Given the description of an element on the screen output the (x, y) to click on. 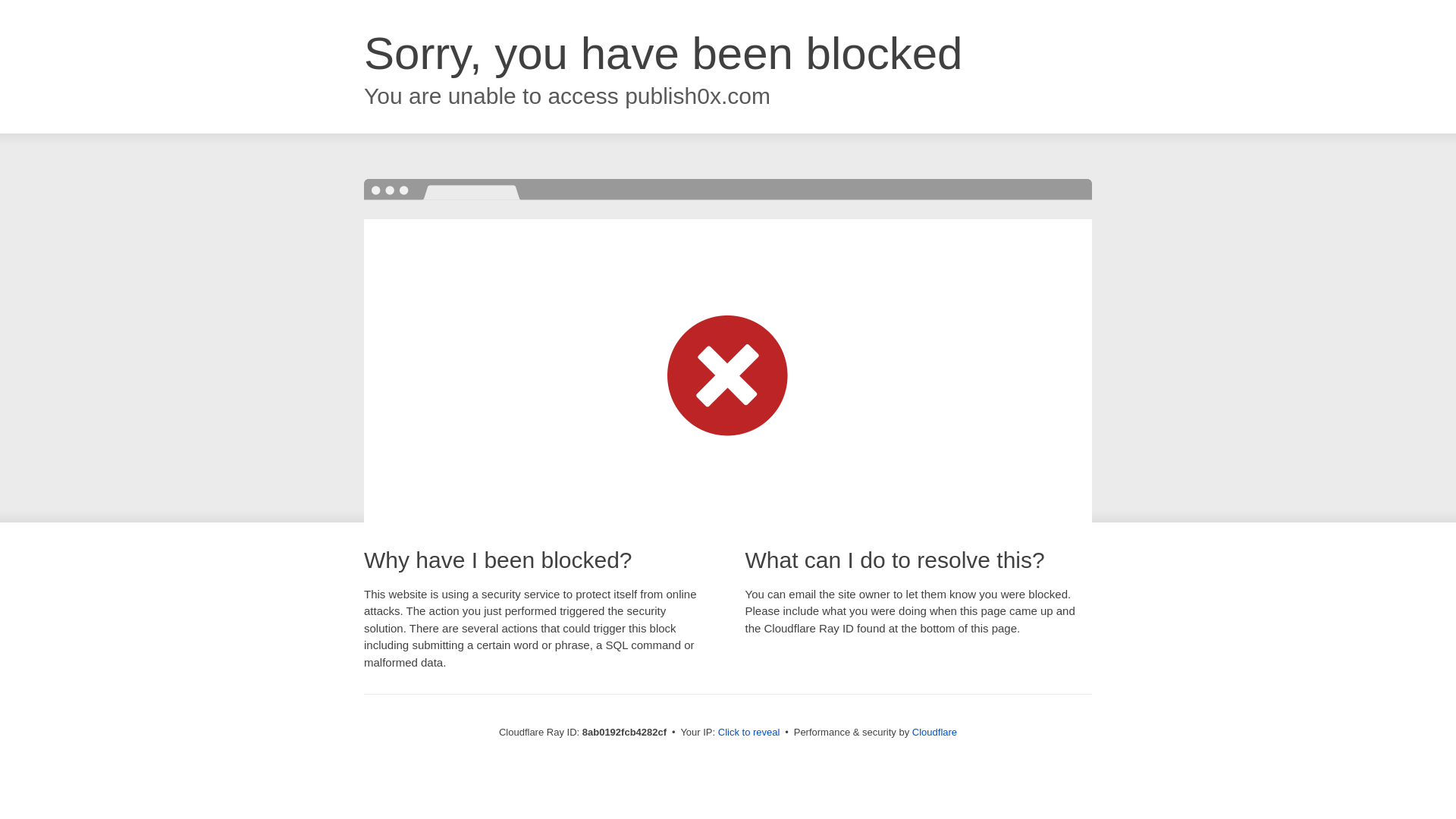
Cloudflare (934, 731)
Click to reveal (748, 732)
